Given the description of an element on the screen output the (x, y) to click on. 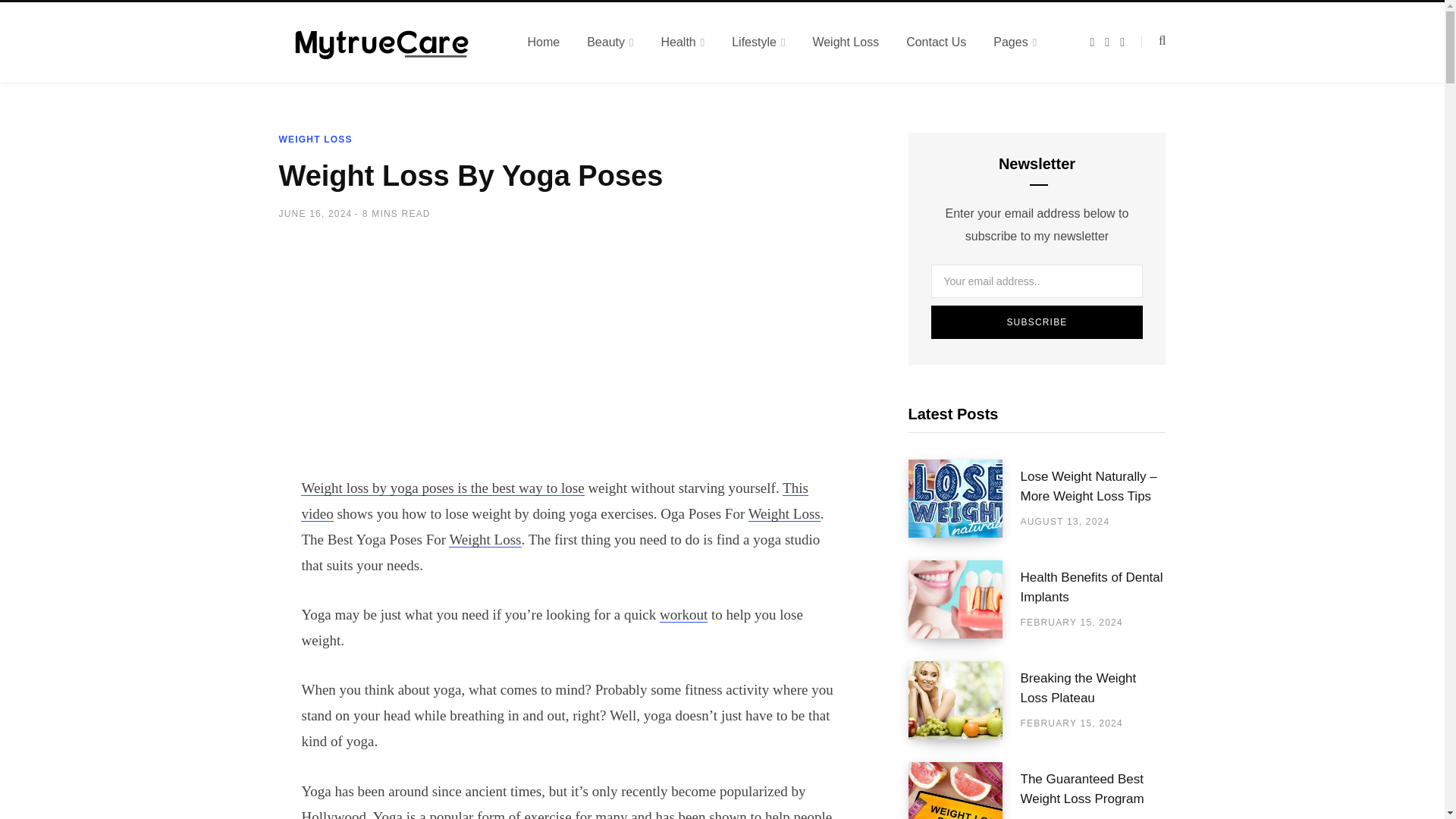
JUNE 16, 2024 (315, 213)
Lifestyle (757, 41)
Weight Loss (484, 538)
WEIGHT LOSS (315, 139)
Weight loss by yoga poses is the best way to lose (442, 487)
Beauty (609, 41)
workout (683, 614)
Health (681, 41)
Advertisement (570, 360)
Pages (1014, 41)
